Given the description of an element on the screen output the (x, y) to click on. 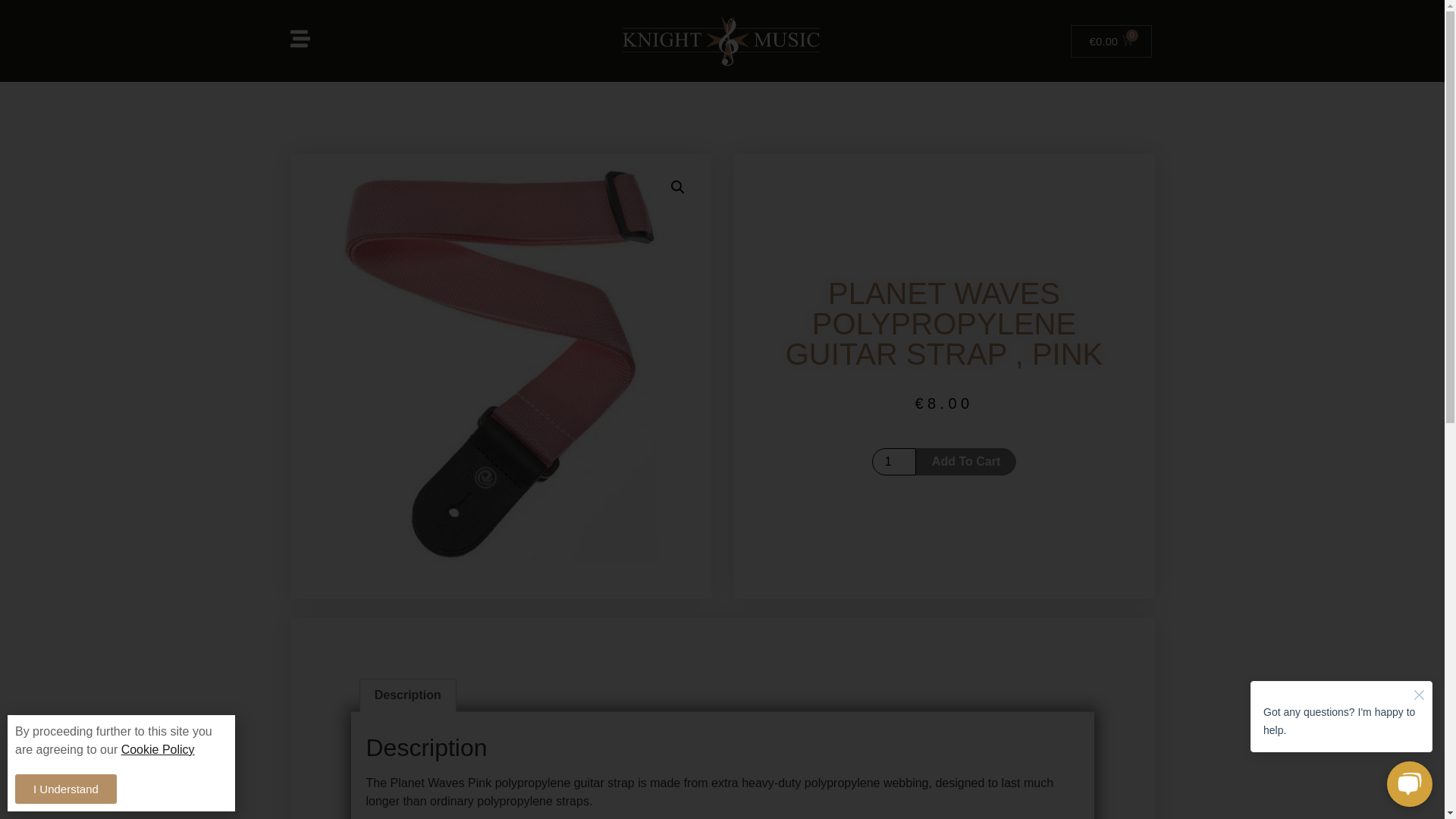
1 (893, 461)
Add To Cart (965, 461)
Description (406, 695)
